Given the description of an element on the screen output the (x, y) to click on. 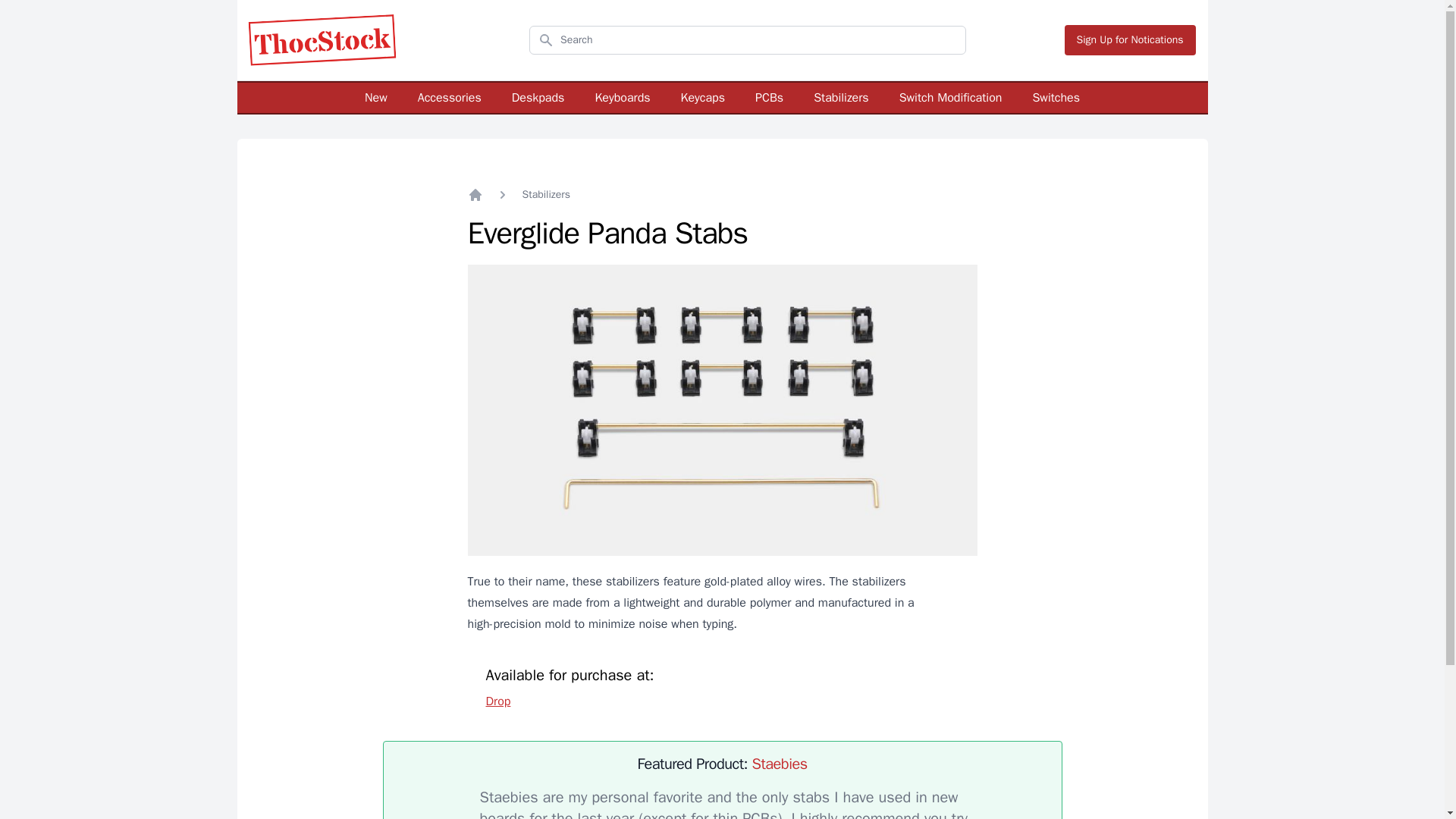
Keycaps (703, 97)
Keyboards (621, 97)
Drop (497, 701)
Stabilizers (841, 97)
New (376, 97)
Home (474, 194)
Switch Modification (951, 97)
PCBs (769, 97)
ThocStock (321, 40)
Accessories (449, 97)
